Given the description of an element on the screen output the (x, y) to click on. 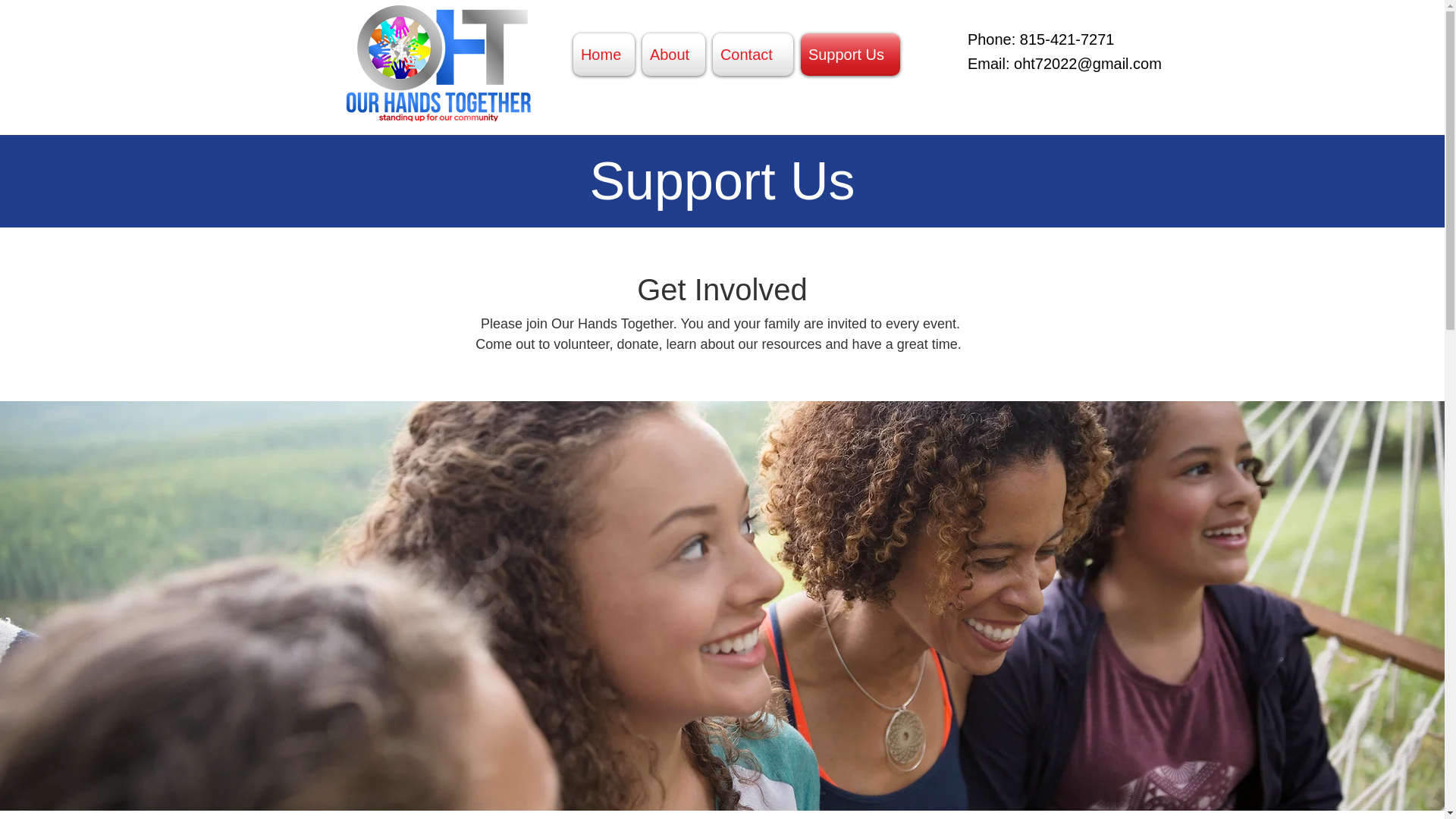
Home (606, 54)
Contact (752, 54)
About (674, 54)
Support Us (850, 54)
